Given the description of an element on the screen output the (x, y) to click on. 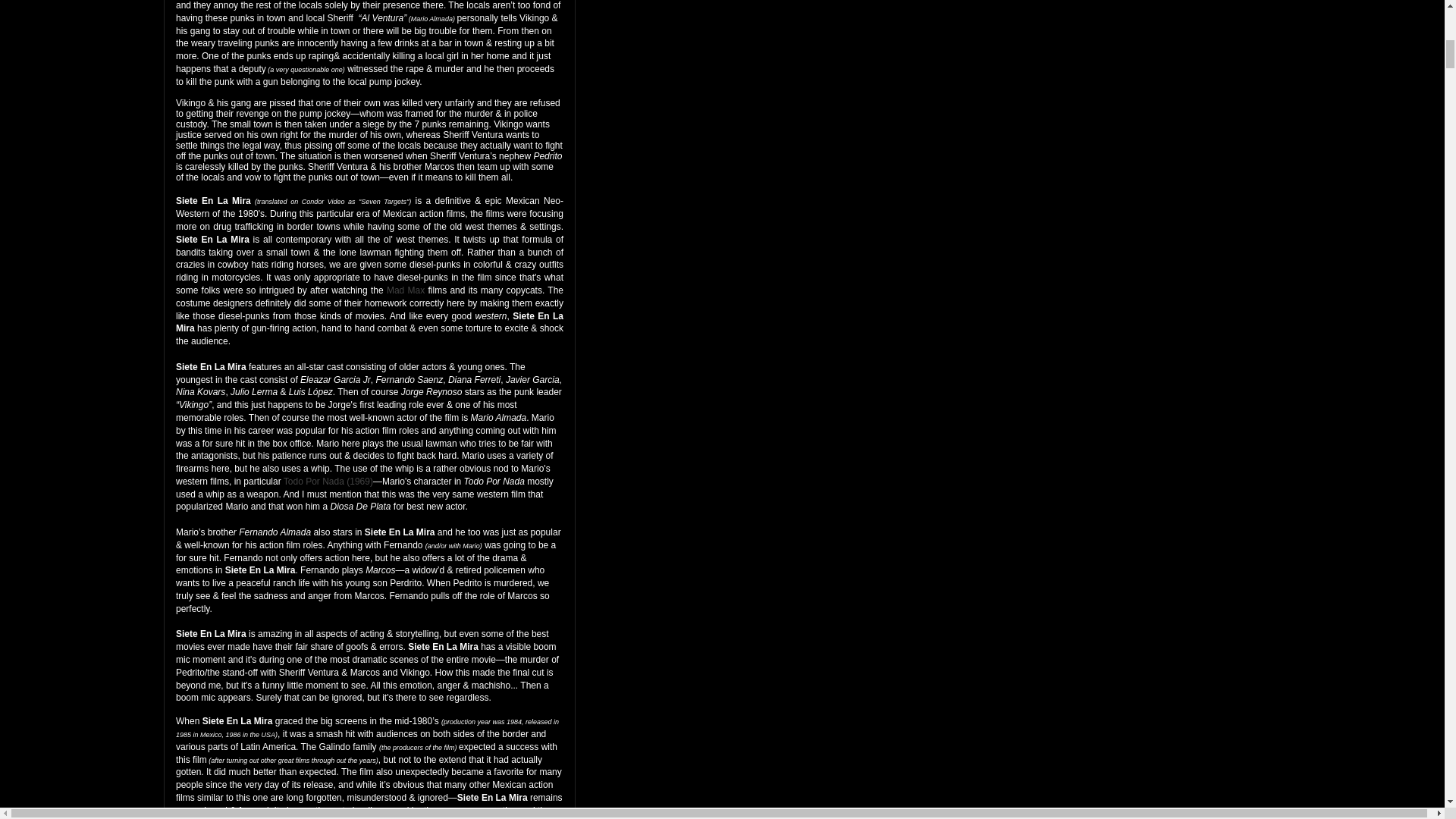
Mad Max (406, 290)
